Given the description of an element on the screen output the (x, y) to click on. 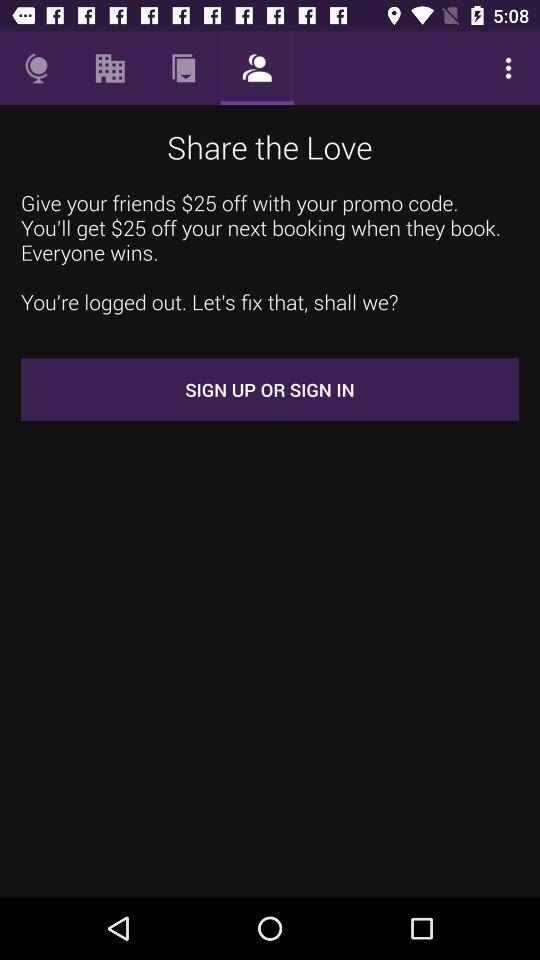
select the icon above the give your friends item (508, 67)
